Given the description of an element on the screen output the (x, y) to click on. 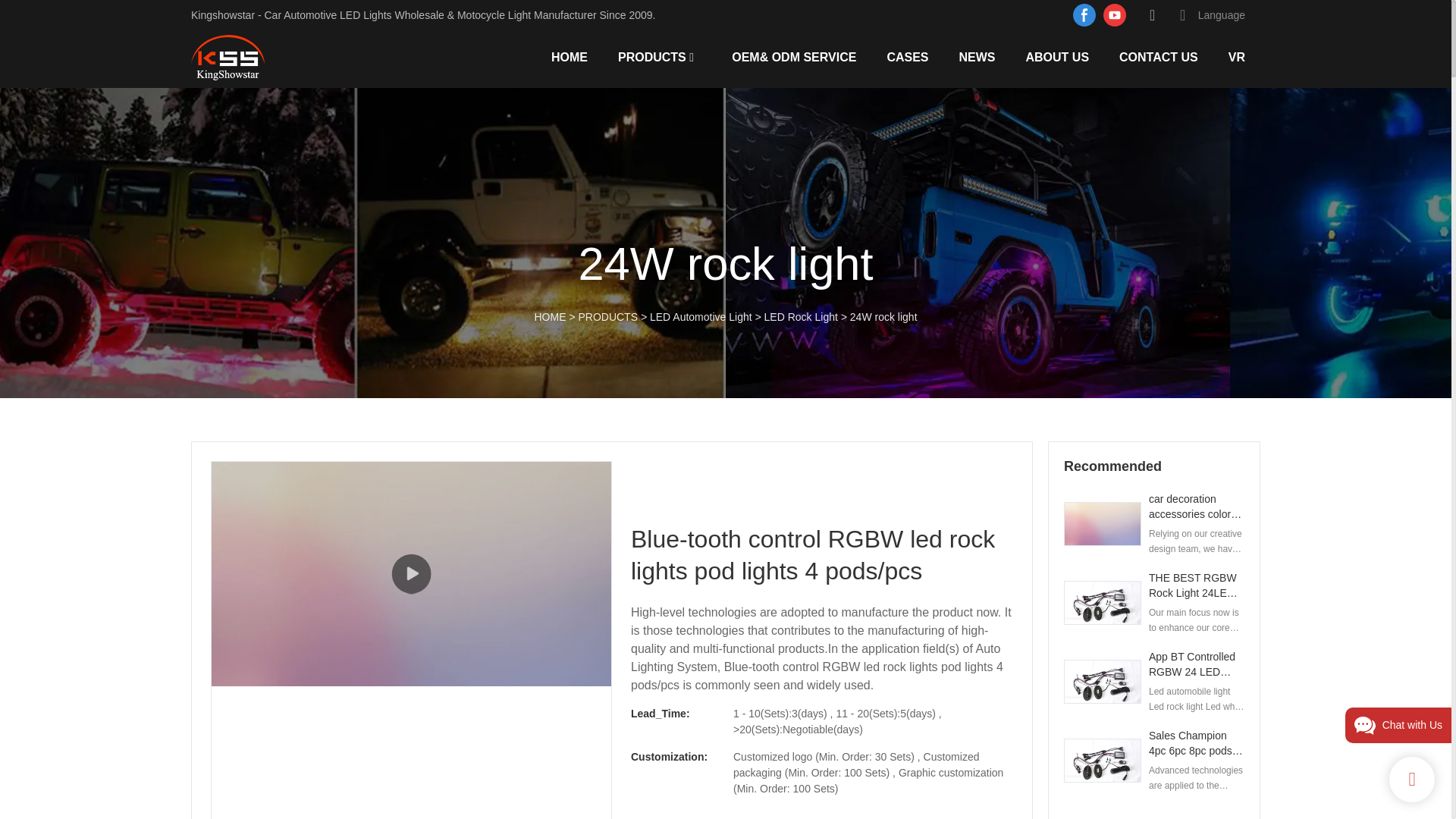
PRODUCTS (651, 56)
HOME (569, 56)
youtube (1114, 15)
facebook (1083, 15)
